Given the description of an element on the screen output the (x, y) to click on. 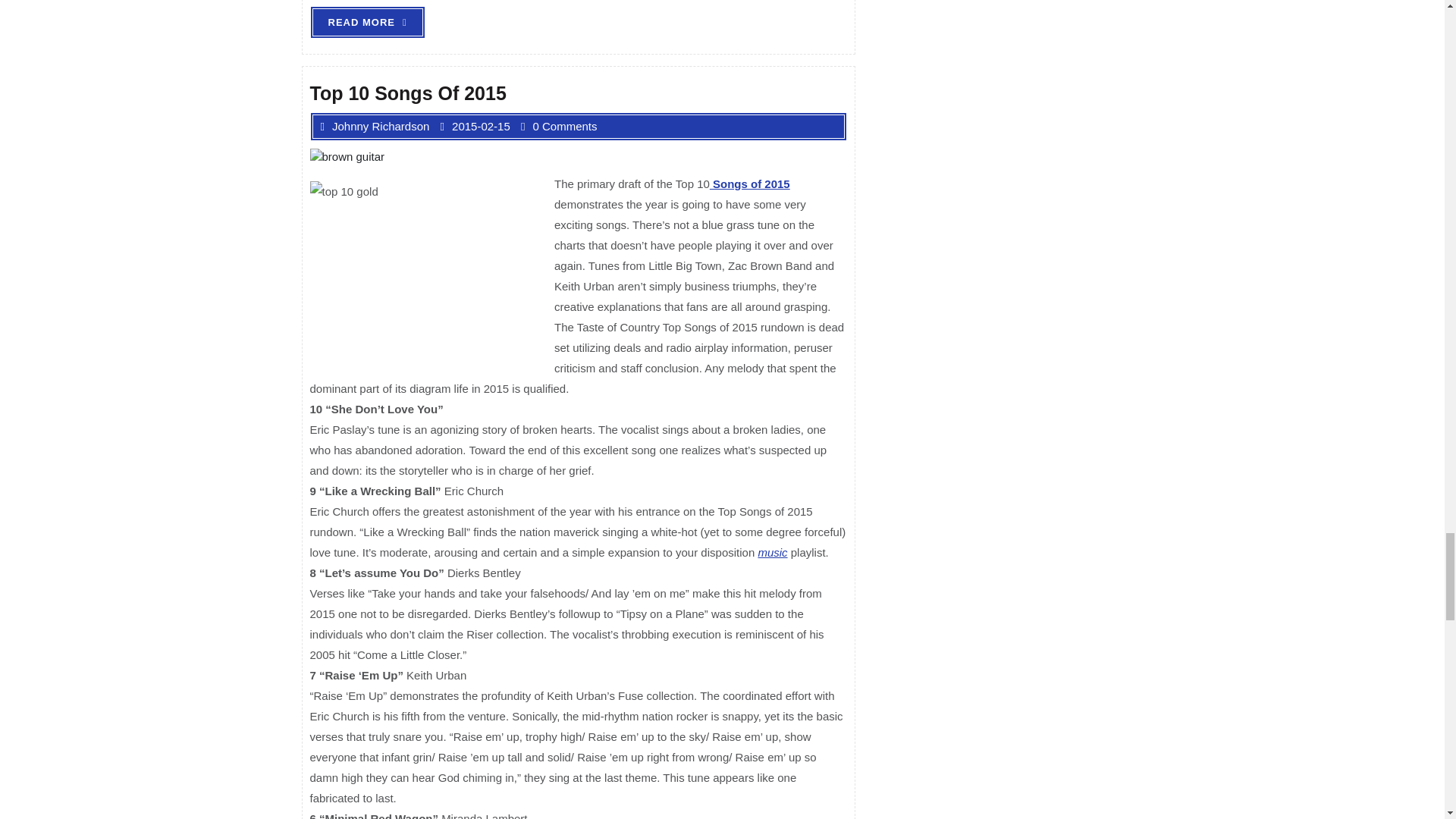
Songs of 2015 (750, 183)
music (366, 21)
